Given the description of an element on the screen output the (x, y) to click on. 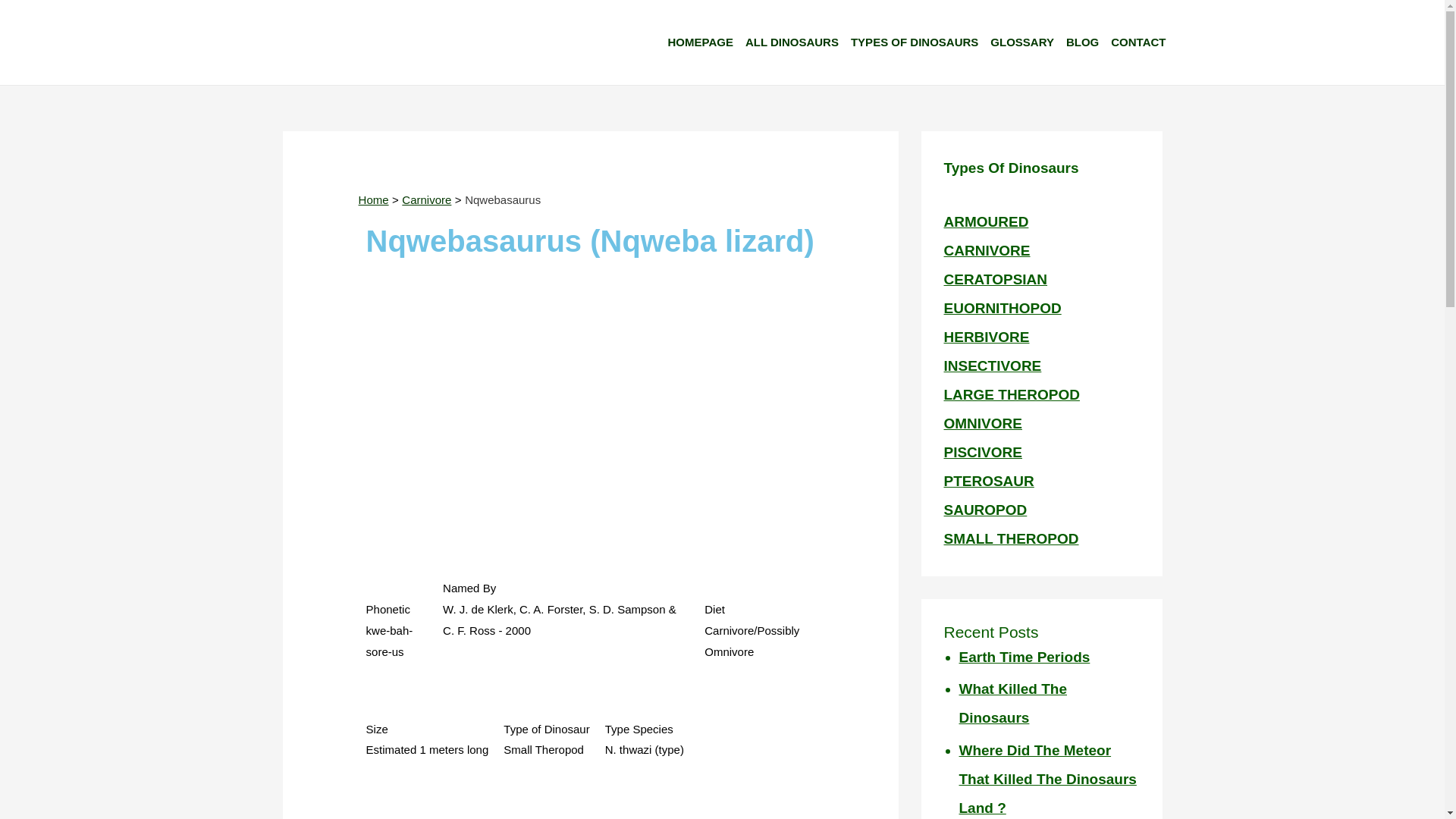
TYPES OF DINOSAURS (920, 41)
ALL DINOSAURS (797, 41)
Home (373, 199)
Carnivore (426, 199)
CONTACT (1142, 41)
ARMOURED (985, 221)
HOMEPAGE (705, 41)
GLOSSARY (1027, 41)
